Given the description of an element on the screen output the (x, y) to click on. 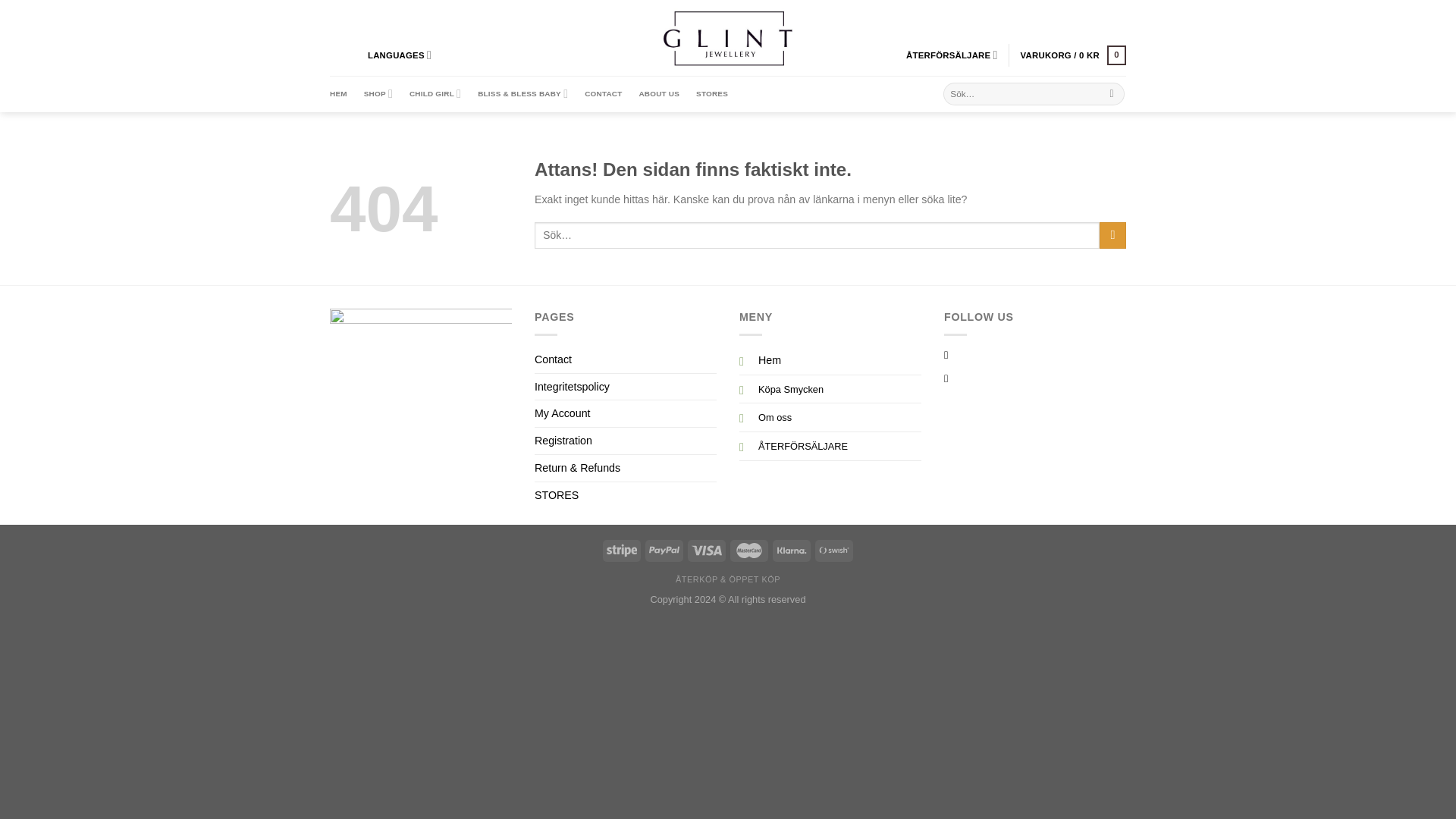
Integritetspolicy (572, 386)
Glint official (727, 38)
Registration (563, 440)
My Account (562, 413)
LANGUAGES (406, 54)
CHILD GIRL (435, 94)
ABOUT US (659, 94)
Varukorg (1072, 55)
Contact (553, 359)
CONTACT (603, 94)
